Given the description of an element on the screen output the (x, y) to click on. 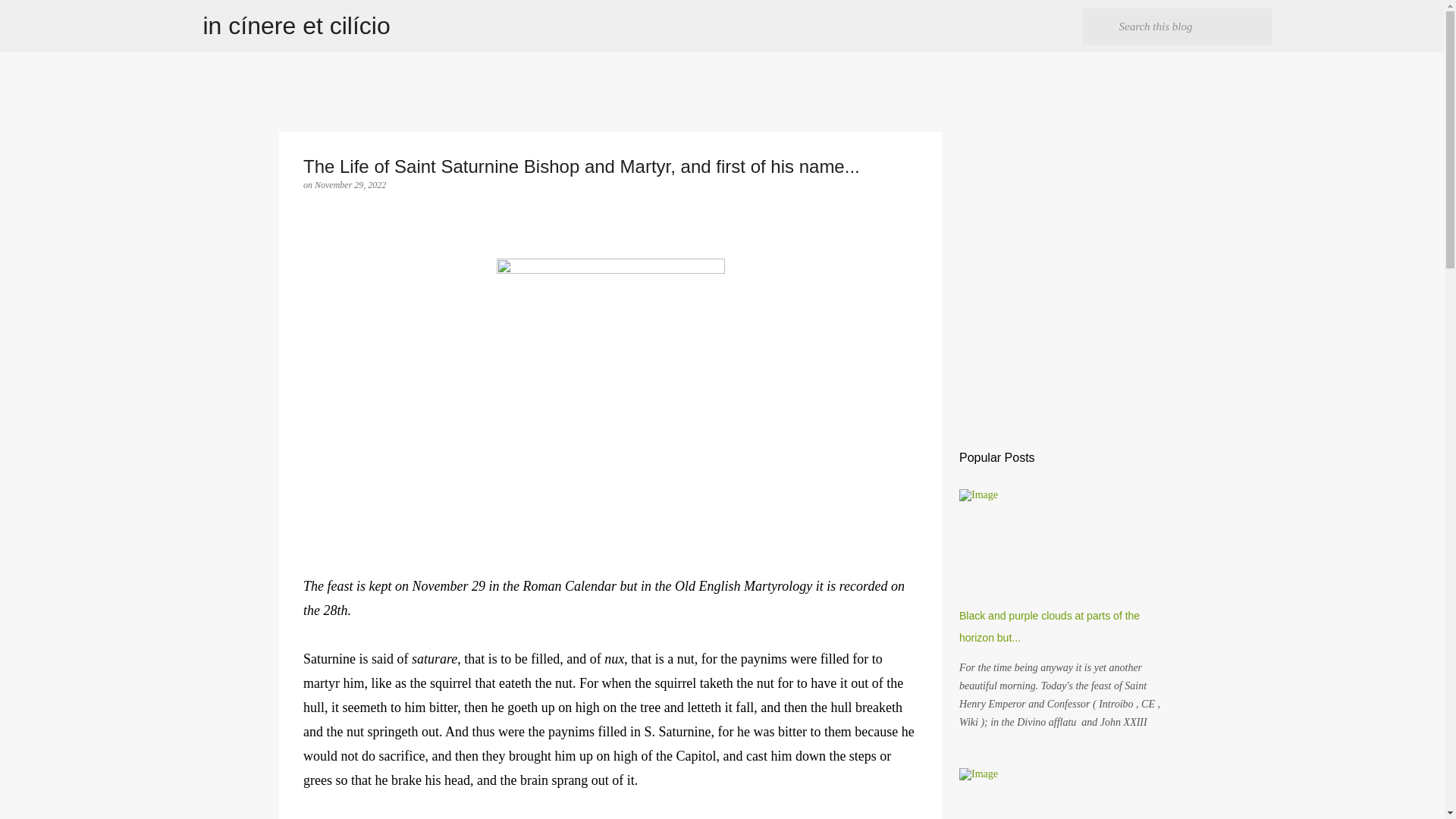
November 29, 2022 (349, 184)
permanent link (349, 184)
Black and purple clouds at parts of the horizon but... (1049, 626)
